Given the description of an element on the screen output the (x, y) to click on. 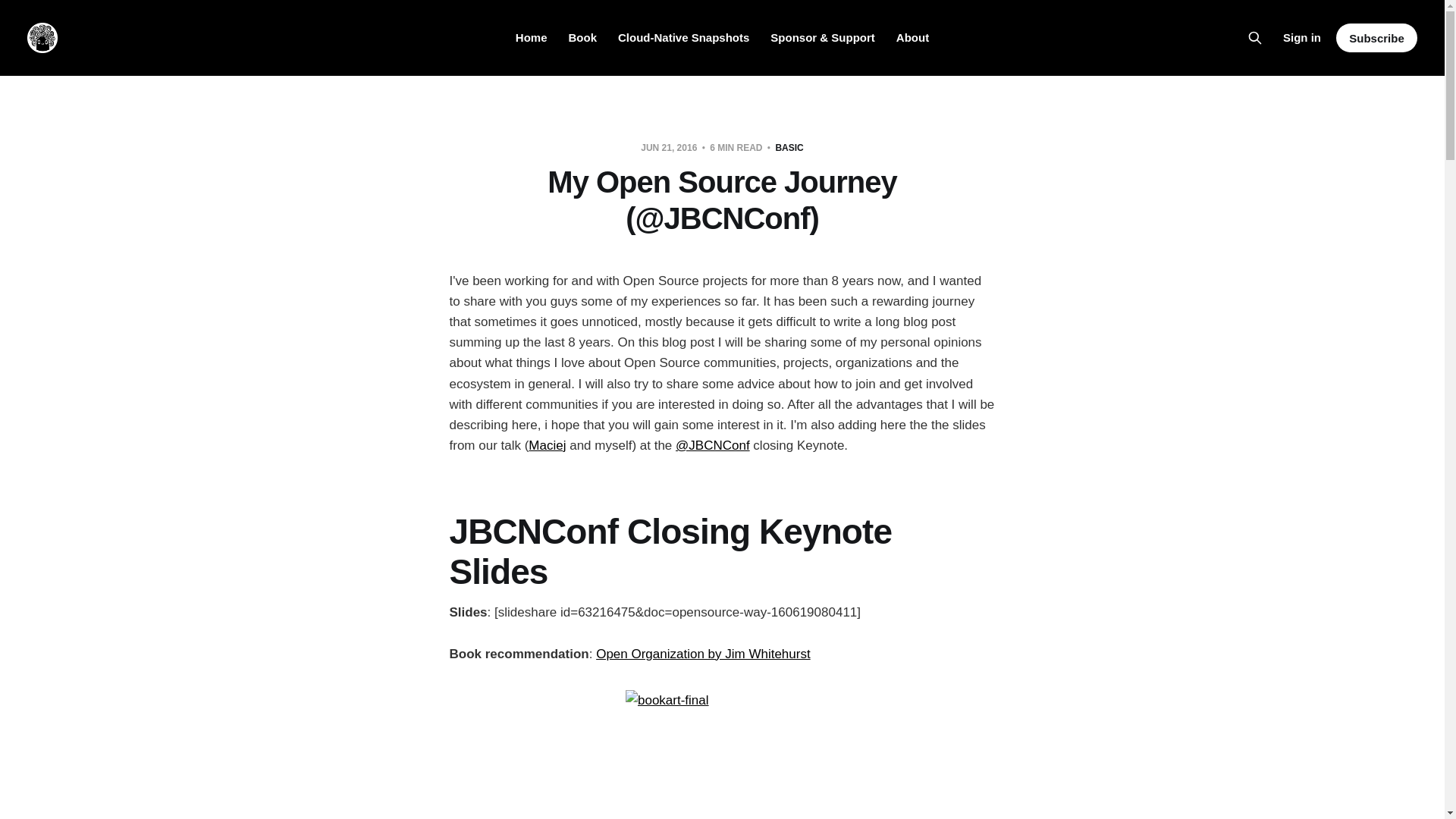
Maciej (547, 445)
About (912, 37)
BASIC (788, 147)
Cloud-Native Snapshots (683, 37)
Subscribe (1376, 37)
Book (582, 37)
Sign in (1301, 37)
Home (531, 37)
Open Organization by Jim Whitehurst (702, 653)
